Given the description of an element on the screen output the (x, y) to click on. 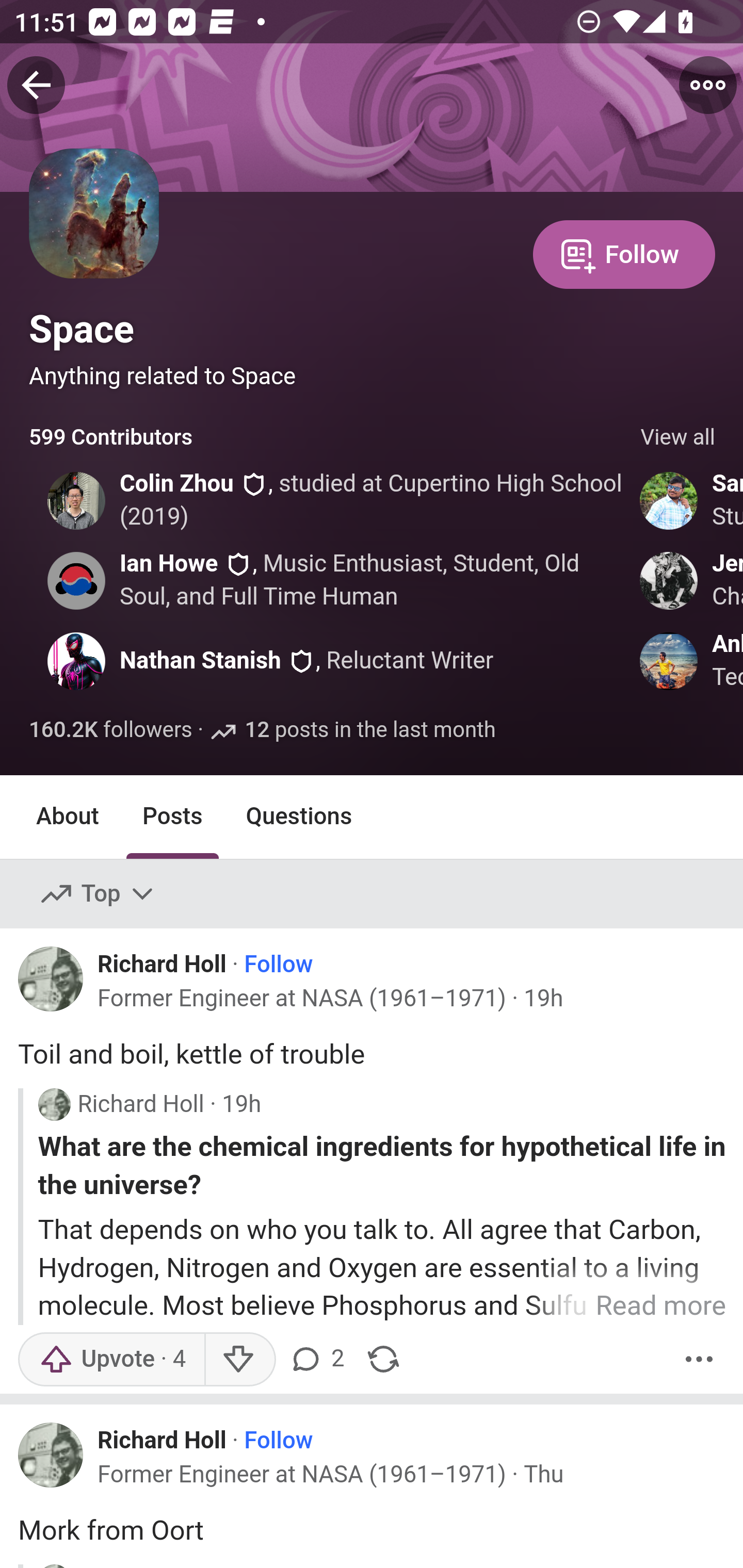
Follow (623, 252)
Space (81, 329)
View all (677, 437)
Colin Zhou (176, 484)
Profile photo for Colin Zhou (76, 499)
Profile photo for Sarfaraz Rahmani (668, 499)
Ian Howe (168, 564)
Profile photo for Ian Howe (76, 579)
Profile photo for Jerry Joo (668, 579)
Profile photo for Nathan Stanish (76, 661)
Profile photo for Ankit Pandey (668, 661)
Nathan Stanish (199, 660)
About (68, 816)
Posts (171, 816)
Questions (299, 816)
Top (97, 894)
Profile photo for Richard Holl (50, 978)
Richard Holl (162, 963)
Follow (278, 964)
Profile photo for Richard Holl (54, 1103)
Upvote (111, 1358)
Downvote (238, 1358)
2 comments (319, 1358)
Share (383, 1358)
More (699, 1358)
Profile photo for Richard Holl (50, 1454)
Richard Holl (162, 1440)
Follow (278, 1440)
